Given the description of an element on the screen output the (x, y) to click on. 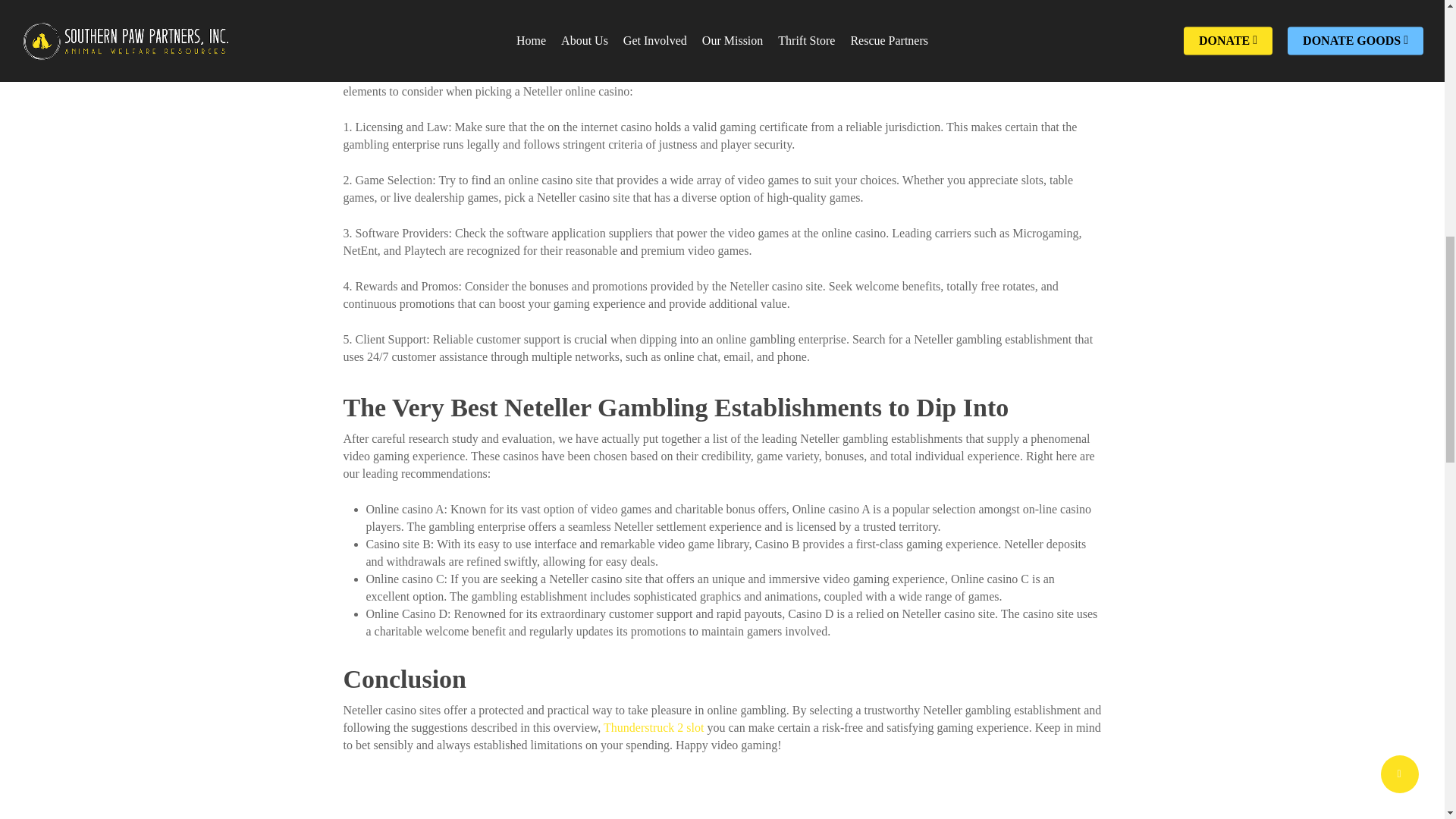
Thunderstruck 2 slot (653, 727)
